Given the description of an element on the screen output the (x, y) to click on. 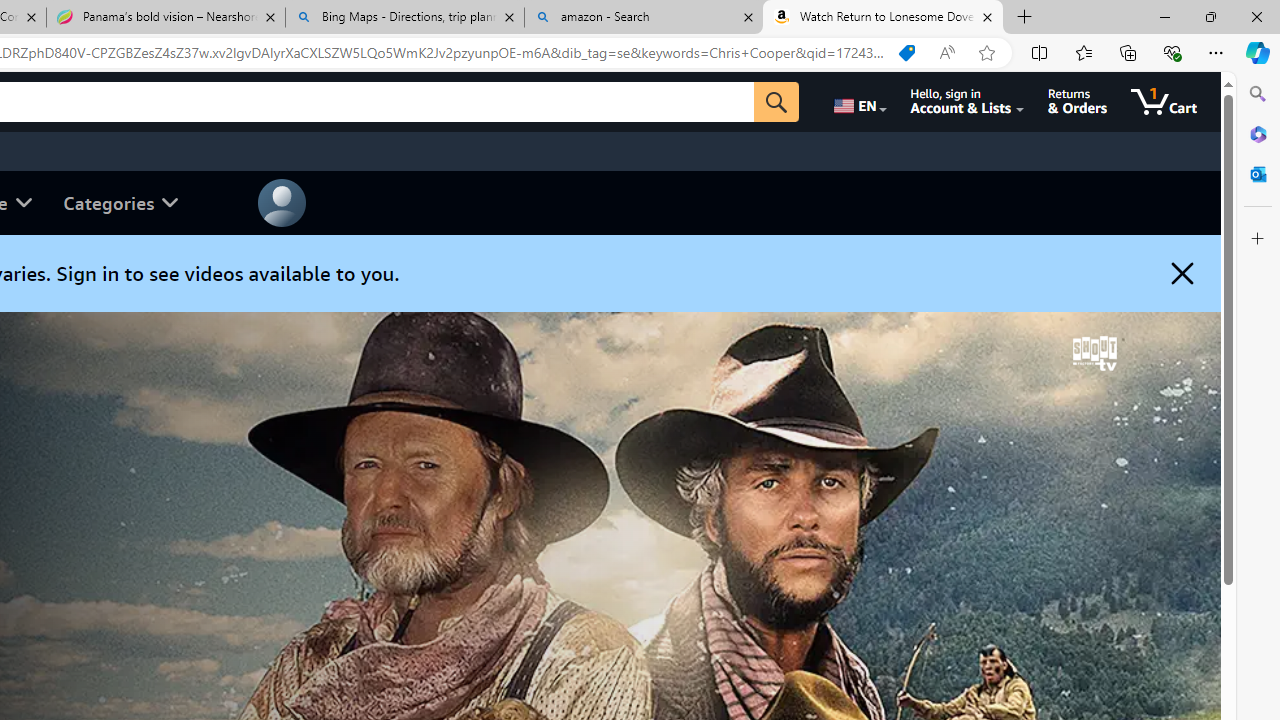
Returns & Orders (1077, 101)
Categories (120, 202)
Channel logo (1094, 353)
1 item in cart (1163, 101)
Go (776, 101)
